Given the description of an element on the screen output the (x, y) to click on. 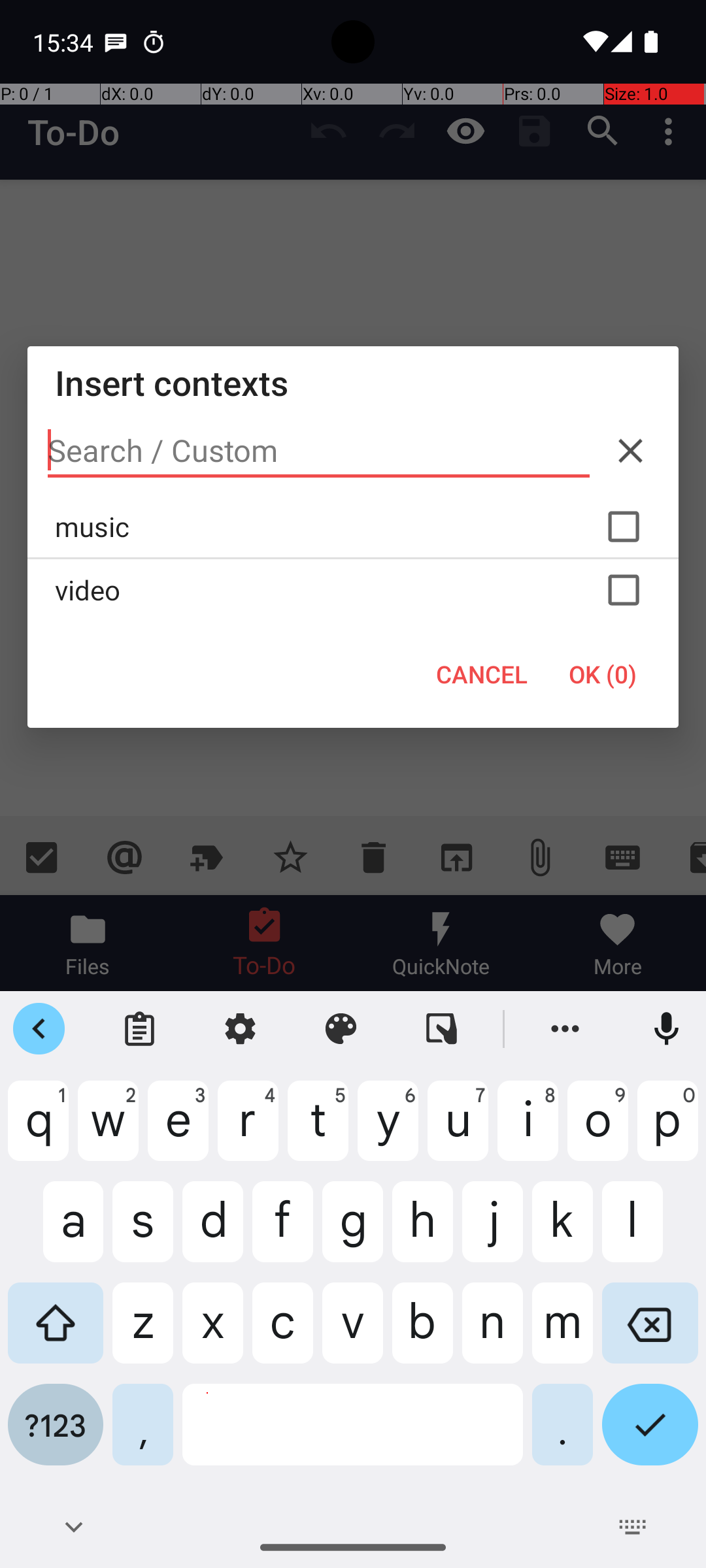
Insert contexts Element type: android.widget.TextView (352, 382)
Search / Custom Element type: android.widget.EditText (318, 450)
music Element type: android.widget.CheckedTextView (352, 526)
video Element type: android.widget.CheckedTextView (352, 589)
SMS Messenger notification: Emily Ibrahim Element type: android.widget.ImageView (115, 41)
